Given the description of an element on the screen output the (x, y) to click on. 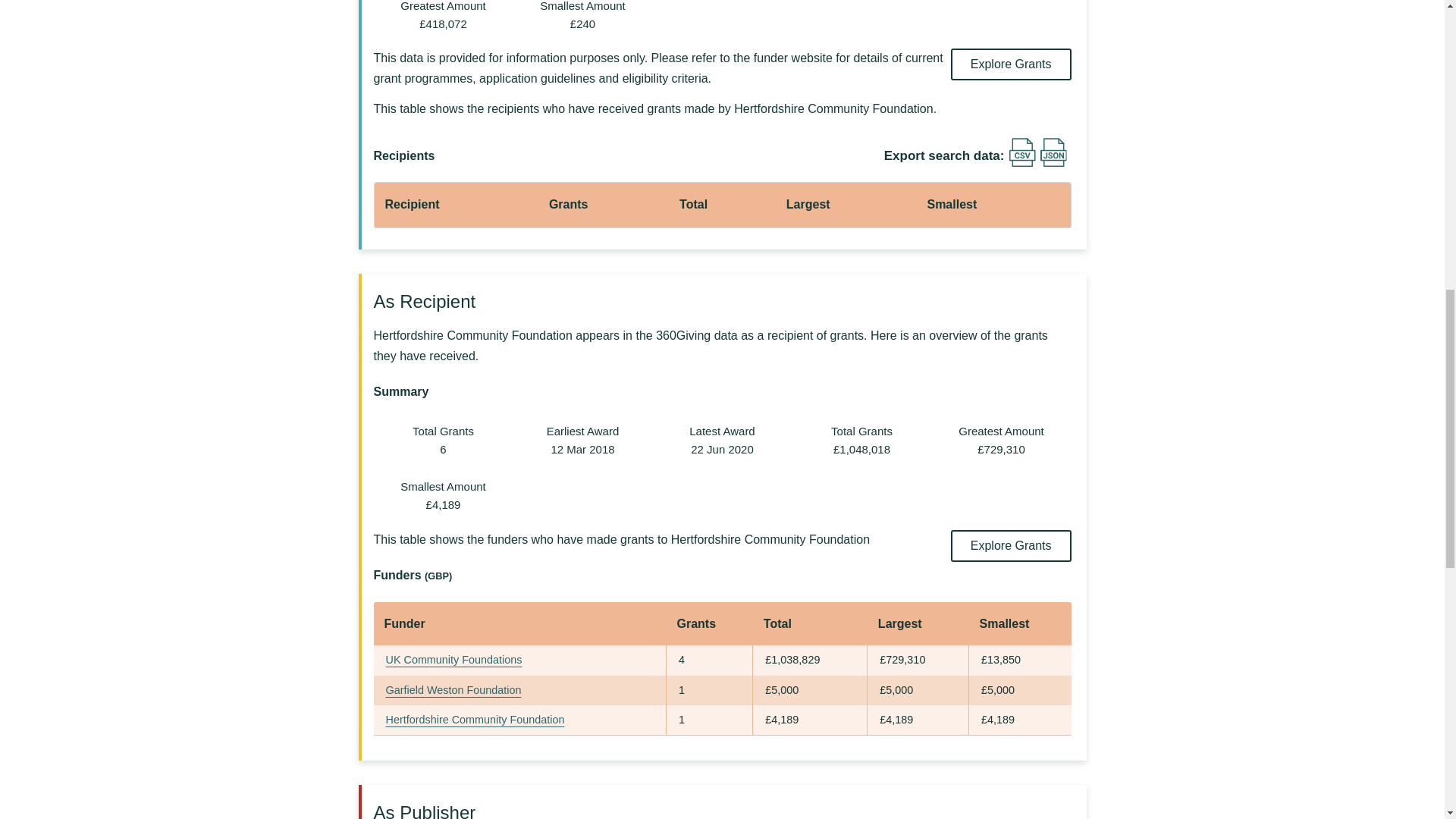
Garfield Weston Foundation (453, 689)
Explore Grants (1010, 64)
Hertfordshire Community Foundation (474, 719)
Explore Grants (1010, 545)
UK Community Foundations (453, 659)
